Given the description of an element on the screen output the (x, y) to click on. 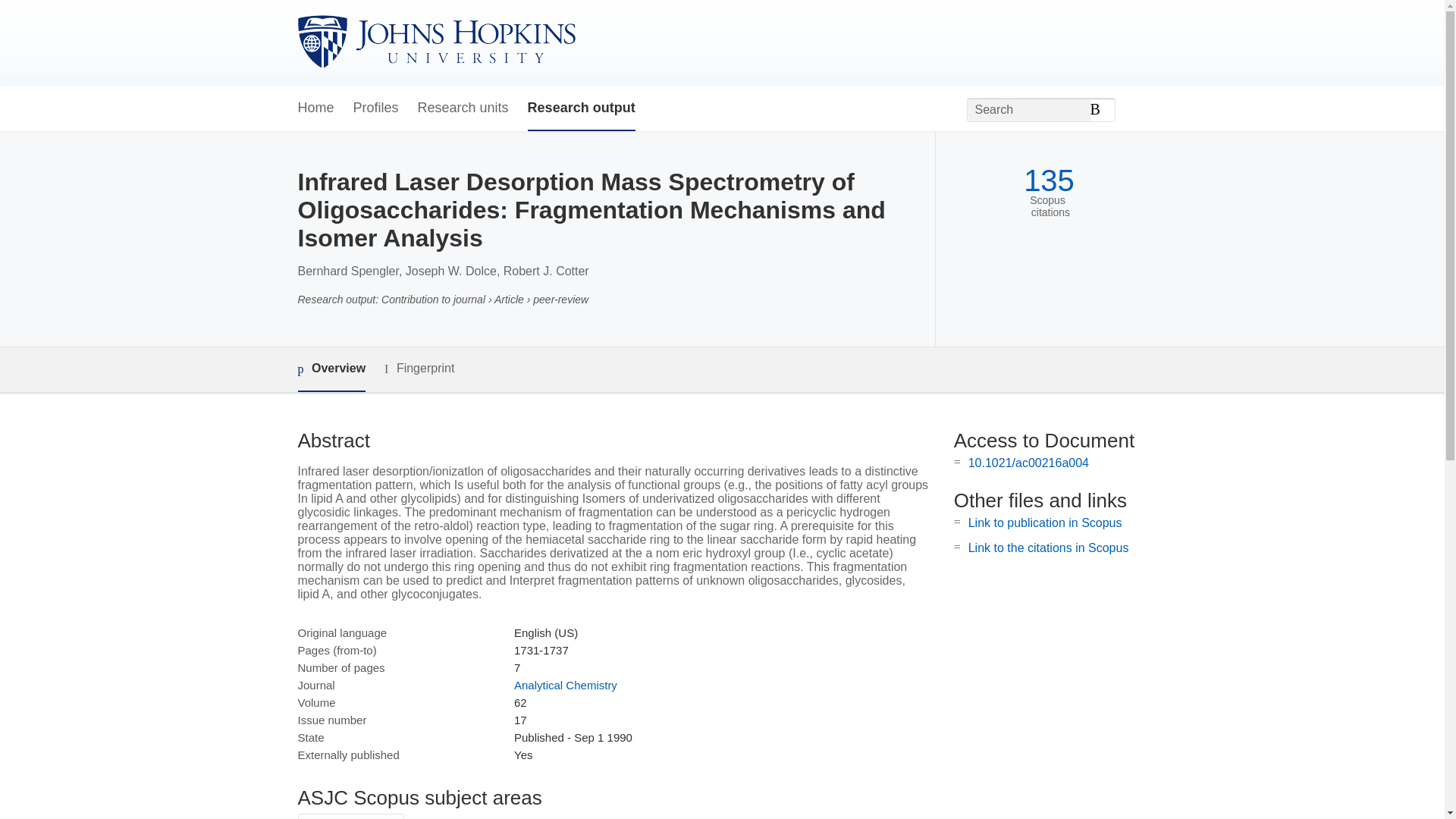
Research output (580, 108)
Johns Hopkins University Home (436, 43)
135 (1048, 180)
Analytical Chemistry (565, 684)
Link to publication in Scopus (1045, 522)
Profiles (375, 108)
Link to the citations in Scopus (1048, 547)
Overview (331, 369)
Research units (462, 108)
Fingerprint (419, 368)
